Given the description of an element on the screen output the (x, y) to click on. 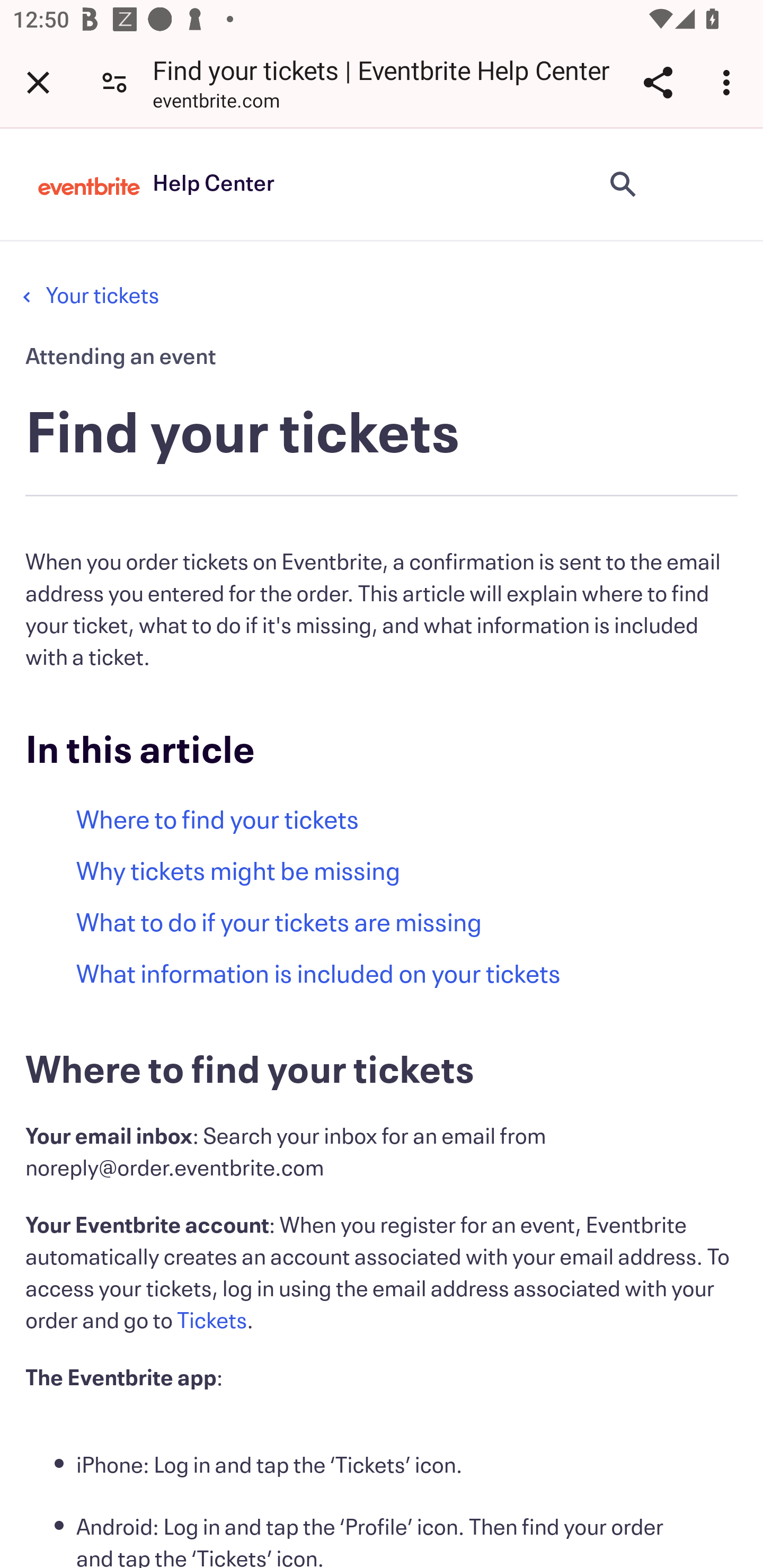
Close tab (38, 82)
Share (657, 82)
Customize and control Google Chrome (729, 82)
Connection is secure (114, 81)
eventbrite.com (216, 103)
Eventbrite Help Center Eventbrite logo Help Center (156, 184)
animation (705, 183)
Your tickets (102, 295)
Tickets (211, 1321)
